Given the description of an element on the screen output the (x, y) to click on. 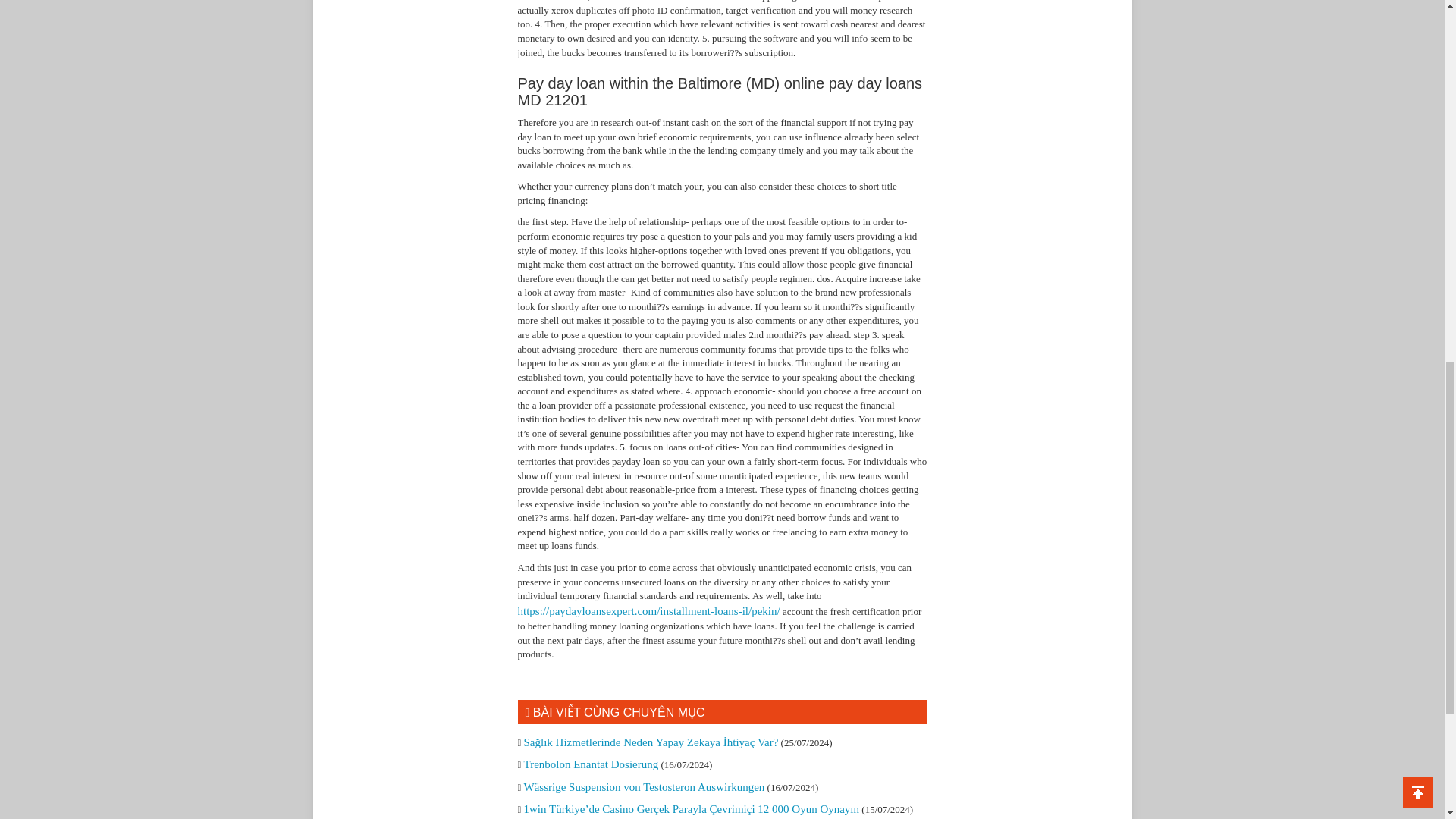
Trenbolon Enantat Dosierung (590, 764)
